Given the description of an element on the screen output the (x, y) to click on. 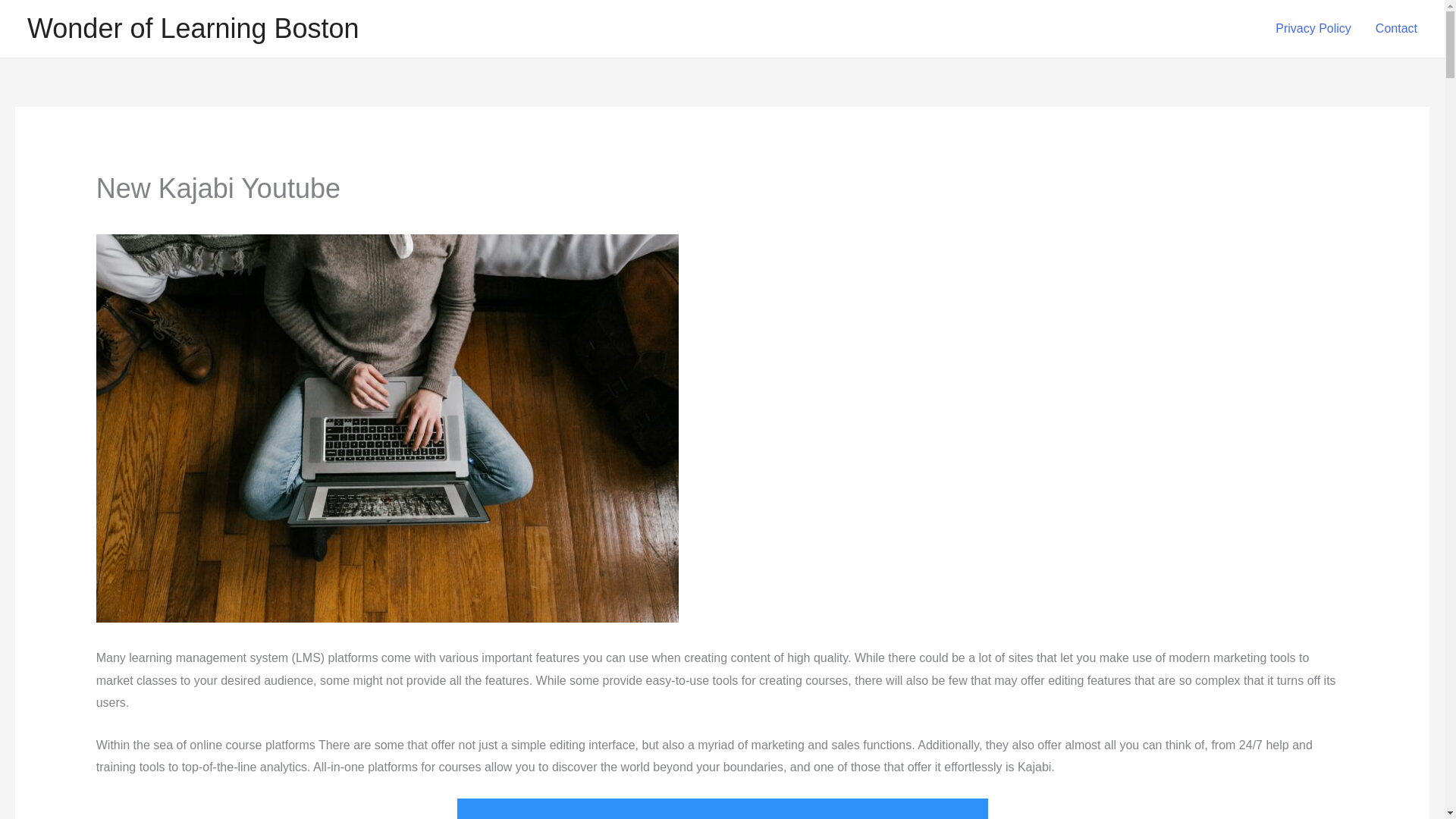
Contact (1395, 28)
Privacy Policy (1312, 28)
Wonder of Learning Boston (193, 28)
